Given the description of an element on the screen output the (x, y) to click on. 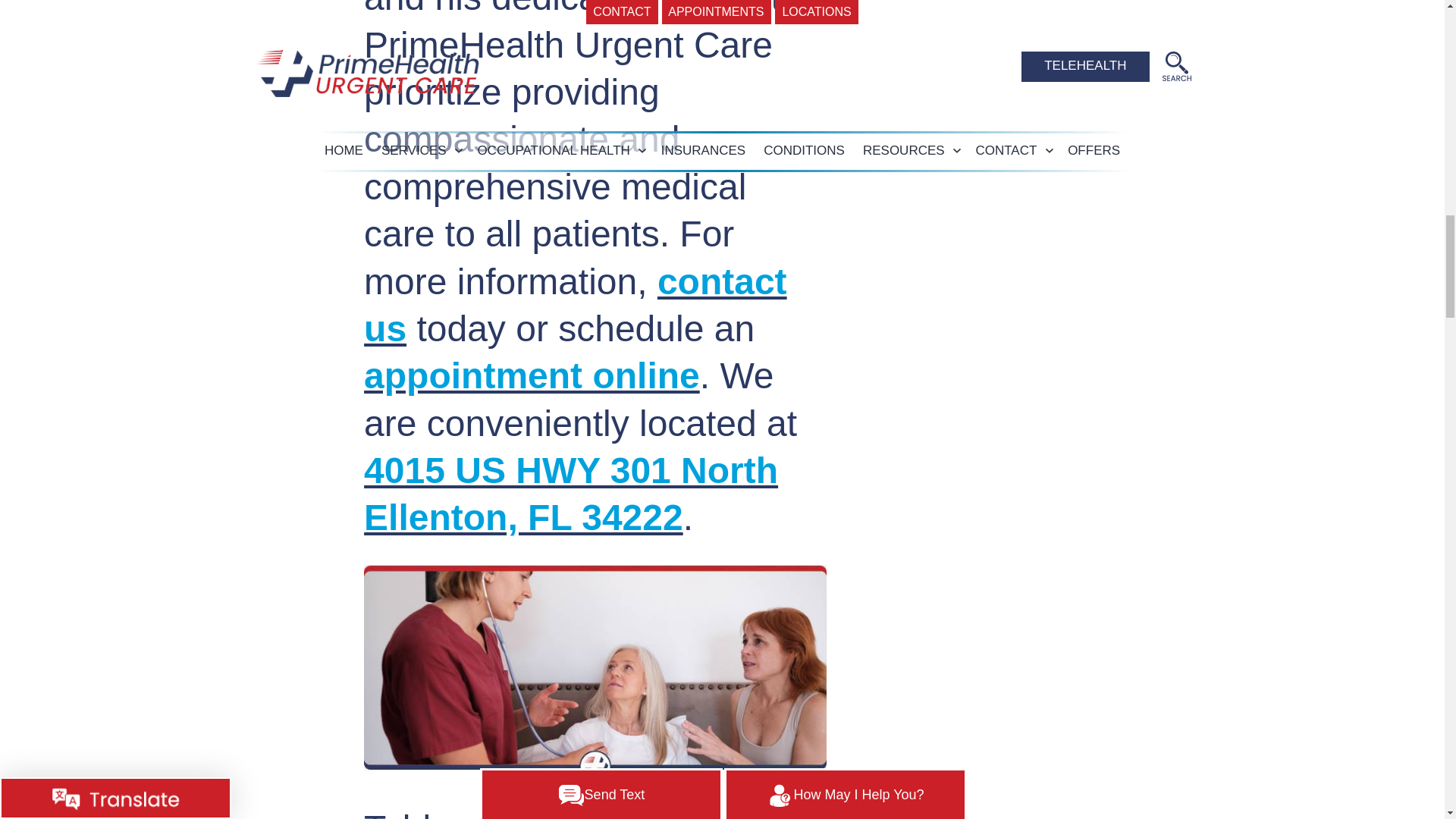
When Should You Go to Urgent Care vs ER in Ellenton, FL? (595, 673)
